Given the description of an element on the screen output the (x, y) to click on. 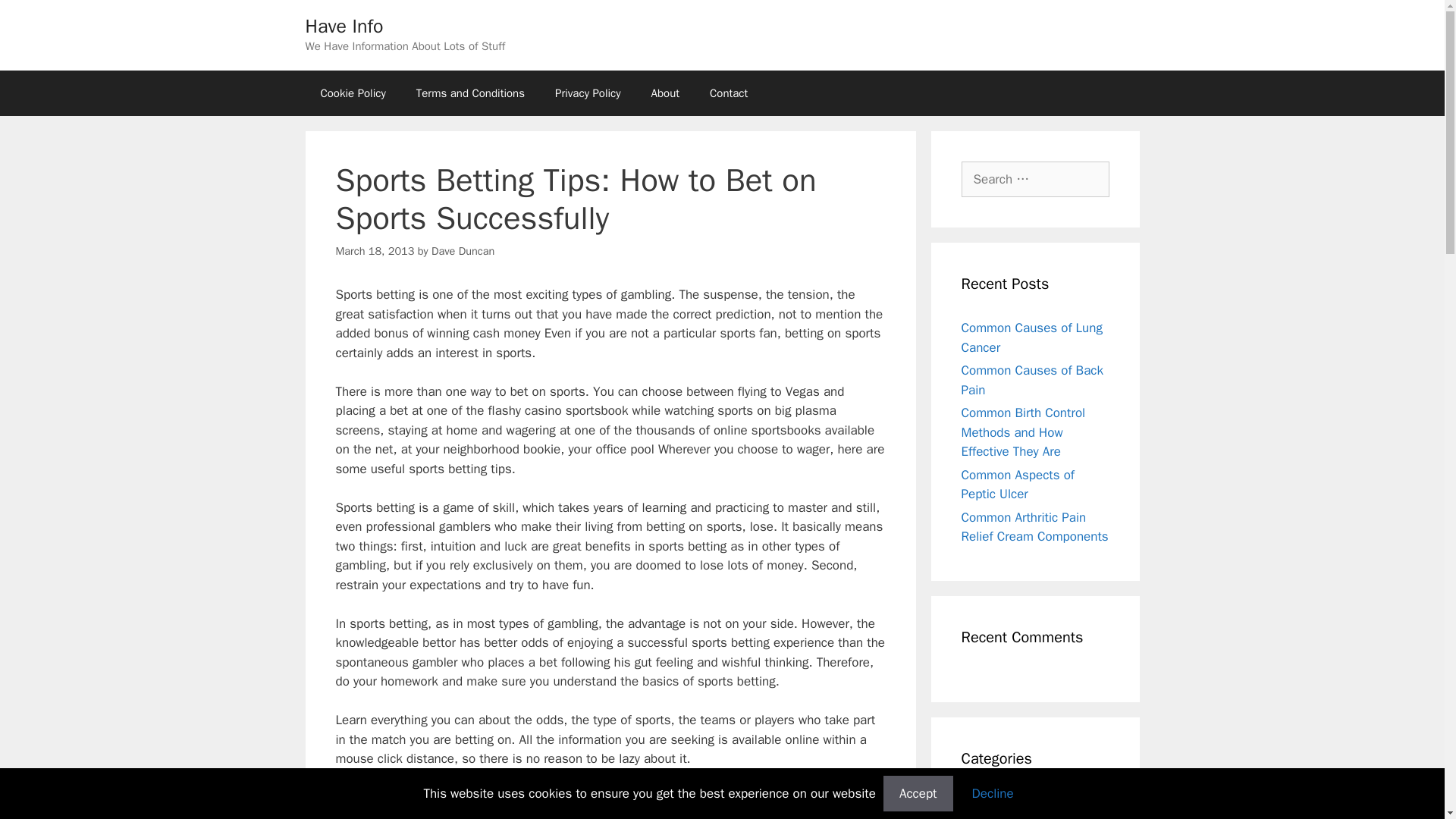
Accept (918, 792)
View all posts by Dave Duncan (462, 250)
Search for: (1034, 178)
Dave Duncan (462, 250)
Common Causes of Back Pain (1031, 380)
Terms and Conditions (470, 92)
Common Birth Control Methods and How Effective They Are (1023, 431)
About (665, 92)
Have Info (343, 25)
Common Arthritic Pain Relief Cream Components (1034, 527)
Privacy Policy (588, 92)
Decline (992, 793)
Common Causes of Lung Cancer (1031, 337)
Search (35, 18)
Common Aspects of Peptic Ulcer (1017, 484)
